Given the description of an element on the screen output the (x, y) to click on. 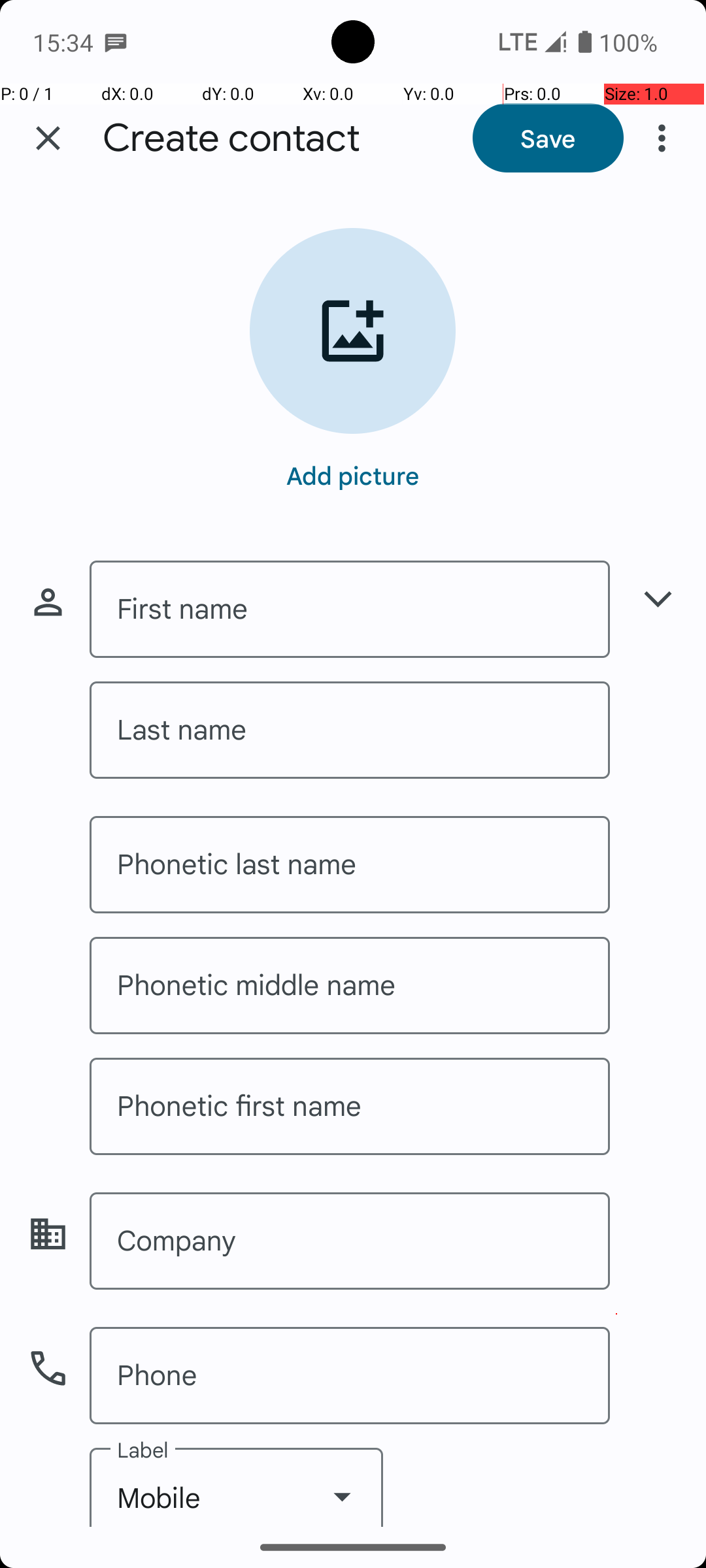
Add contact photo Element type: android.widget.FrameLayout (352, 330)
Add picture Element type: android.widget.Button (352, 474)
Phonetic last name Element type: android.widget.EditText (349, 864)
Phonetic middle name Element type: android.widget.EditText (349, 985)
Phonetic first name Element type: android.widget.EditText (349, 1106)
Mobile Element type: android.widget.Spinner (236, 1486)
Show more name fields Element type: android.widget.ImageView (657, 598)
